Given the description of an element on the screen output the (x, y) to click on. 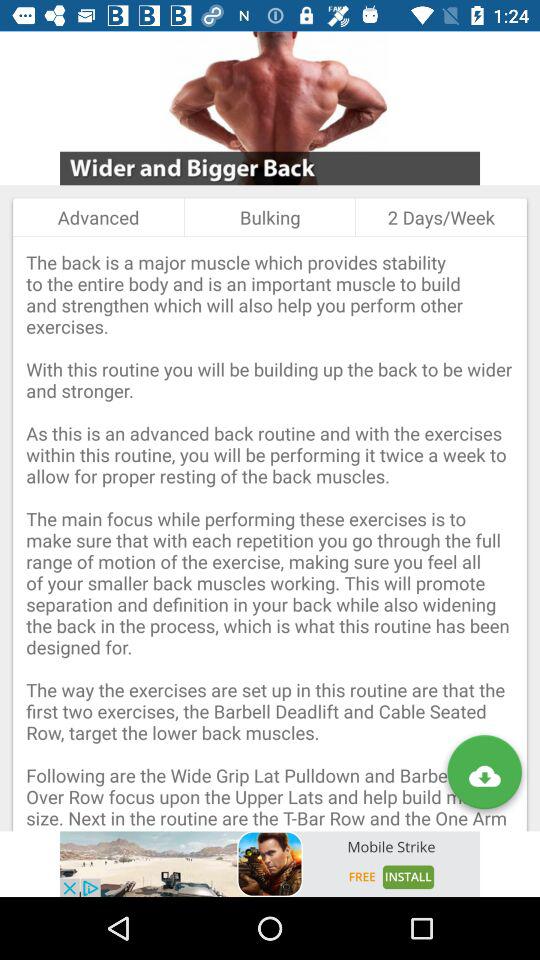
turn off the item to the right of bulking (440, 217)
